Given the description of an element on the screen output the (x, y) to click on. 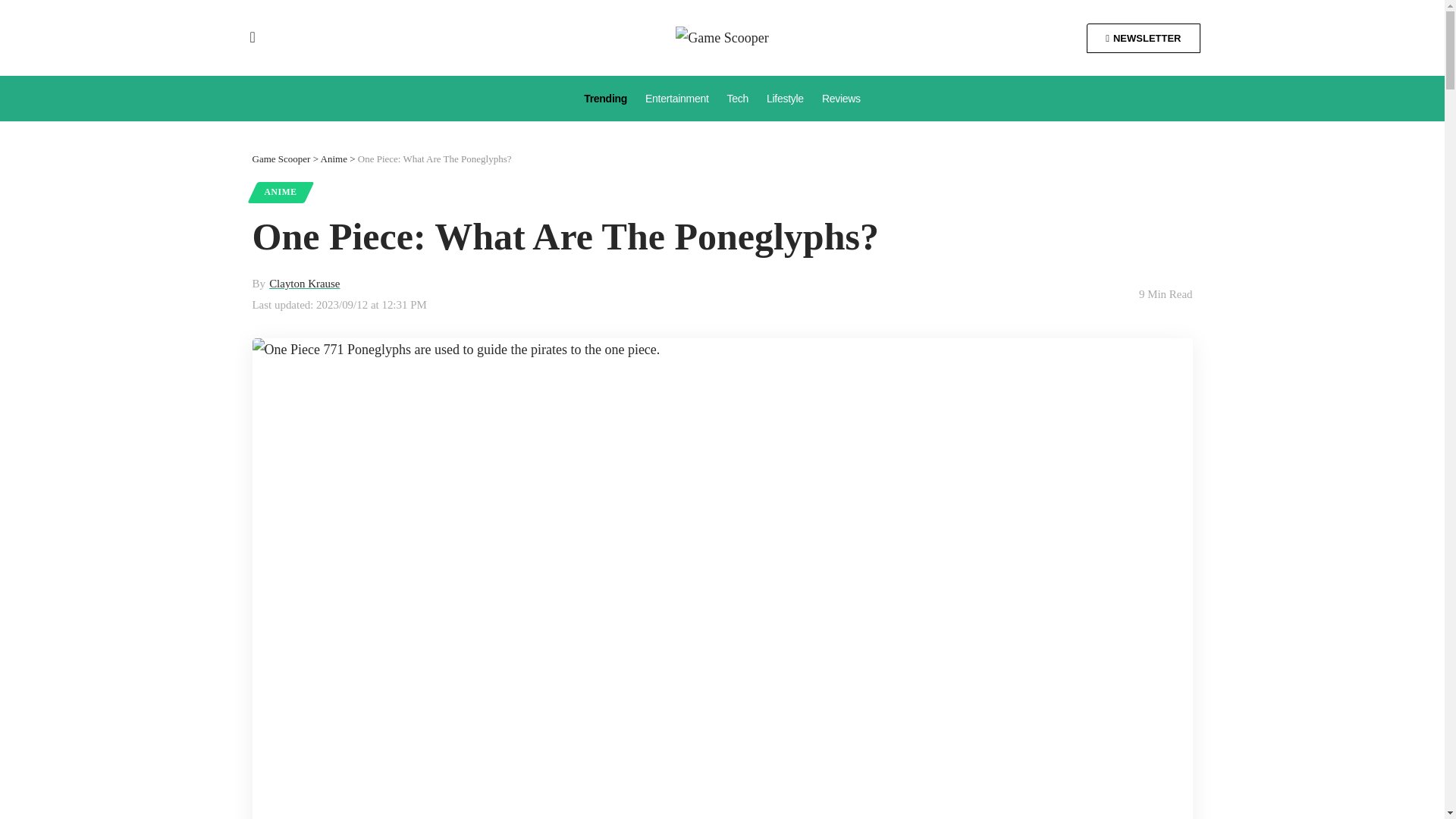
Go to the Anime Category archives. (333, 158)
Go to Game Scooper. (280, 158)
